Given the description of an element on the screen output the (x, y) to click on. 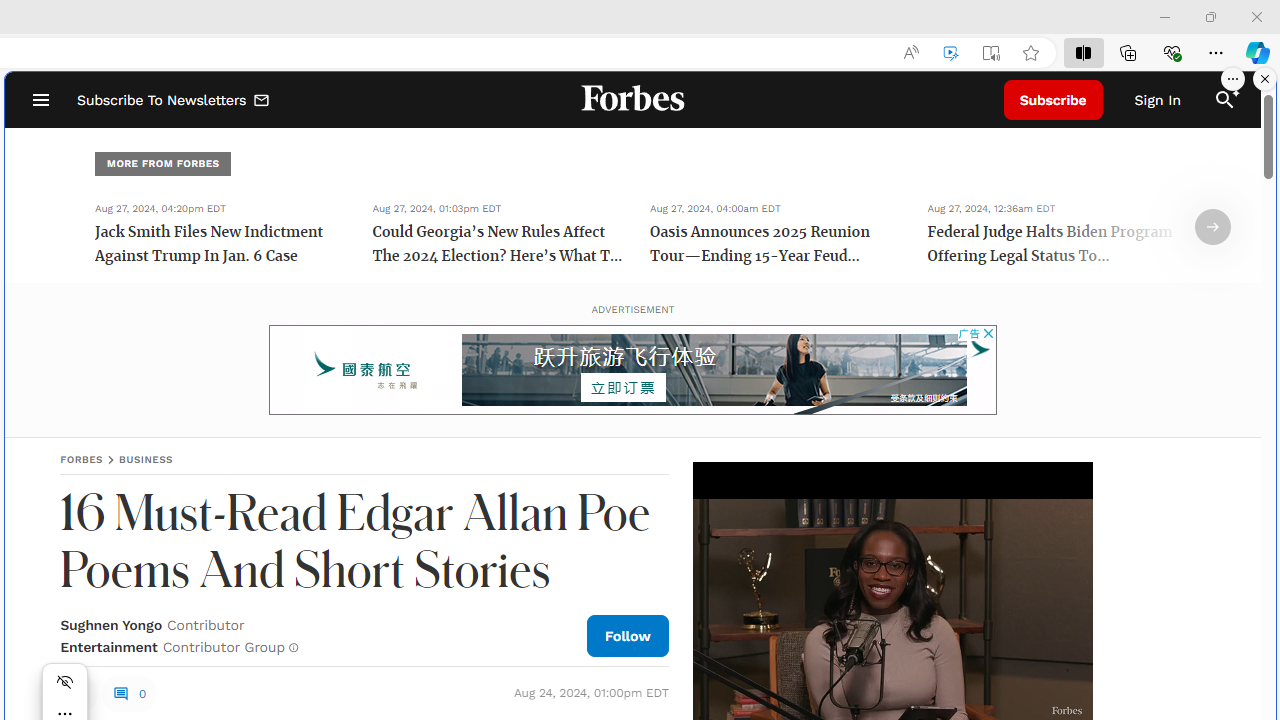
Subscribe (1053, 99)
Class: search_svg__fs-icon search_svg__fs-icon--search (1224, 99)
Class: fs-icon fs-icon--comment (120, 693)
FORBES (81, 459)
Class: envelope_svg__fs-icon envelope_svg__fs-icon--envelope (262, 102)
Class: fs-icon fs-icon--arrow-right (1212, 227)
More options. (1233, 79)
Class: sparkles_svg__fs-icon sparkles_svg__fs-icon--sparkles (1233, 91)
